Given the description of an element on the screen output the (x, y) to click on. 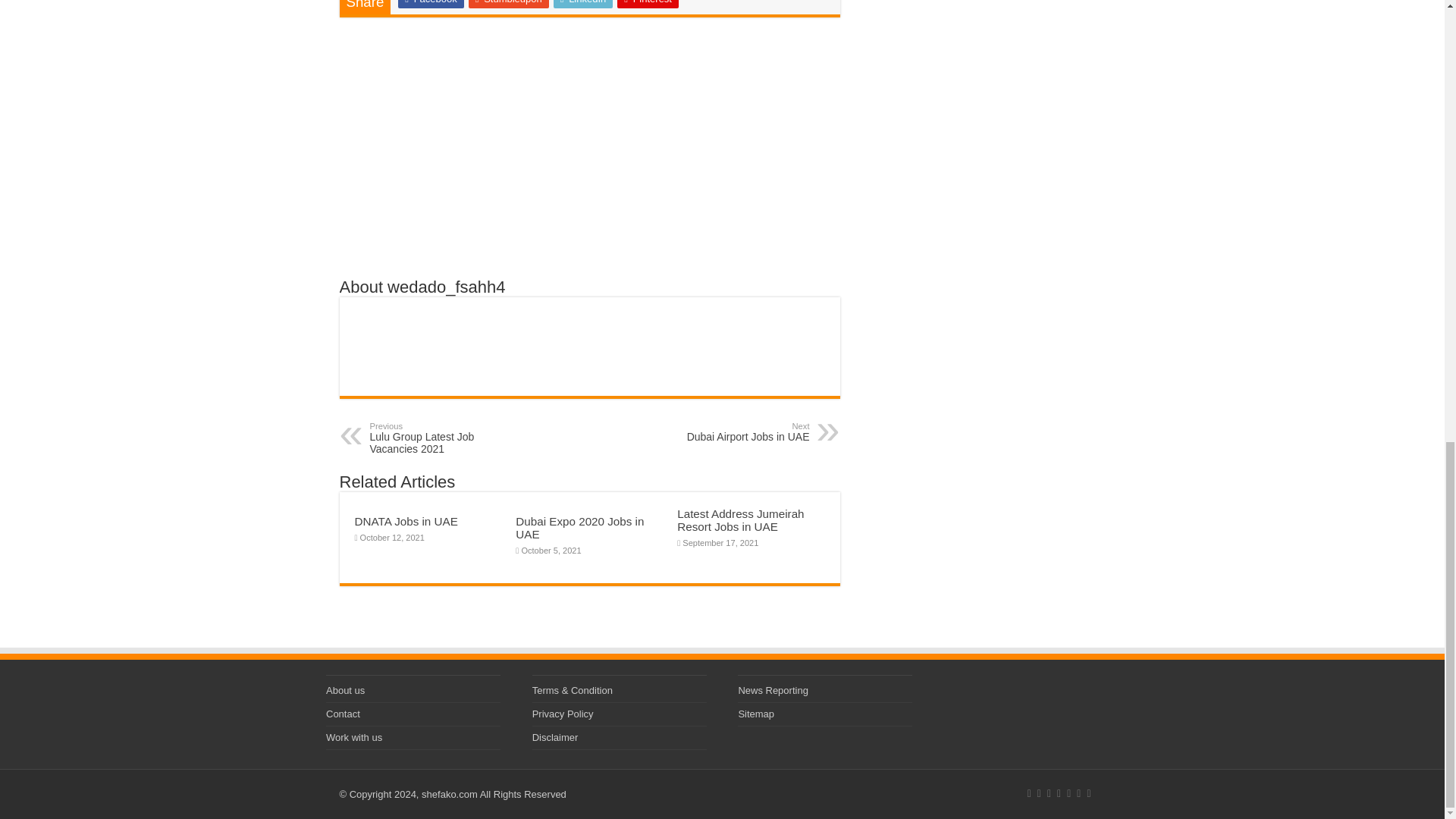
Pinterest (647, 4)
Facebook (447, 438)
DNATA Jobs in UAE (430, 4)
Stumbleupon (406, 521)
LinkedIn (508, 4)
